Given the description of an element on the screen output the (x, y) to click on. 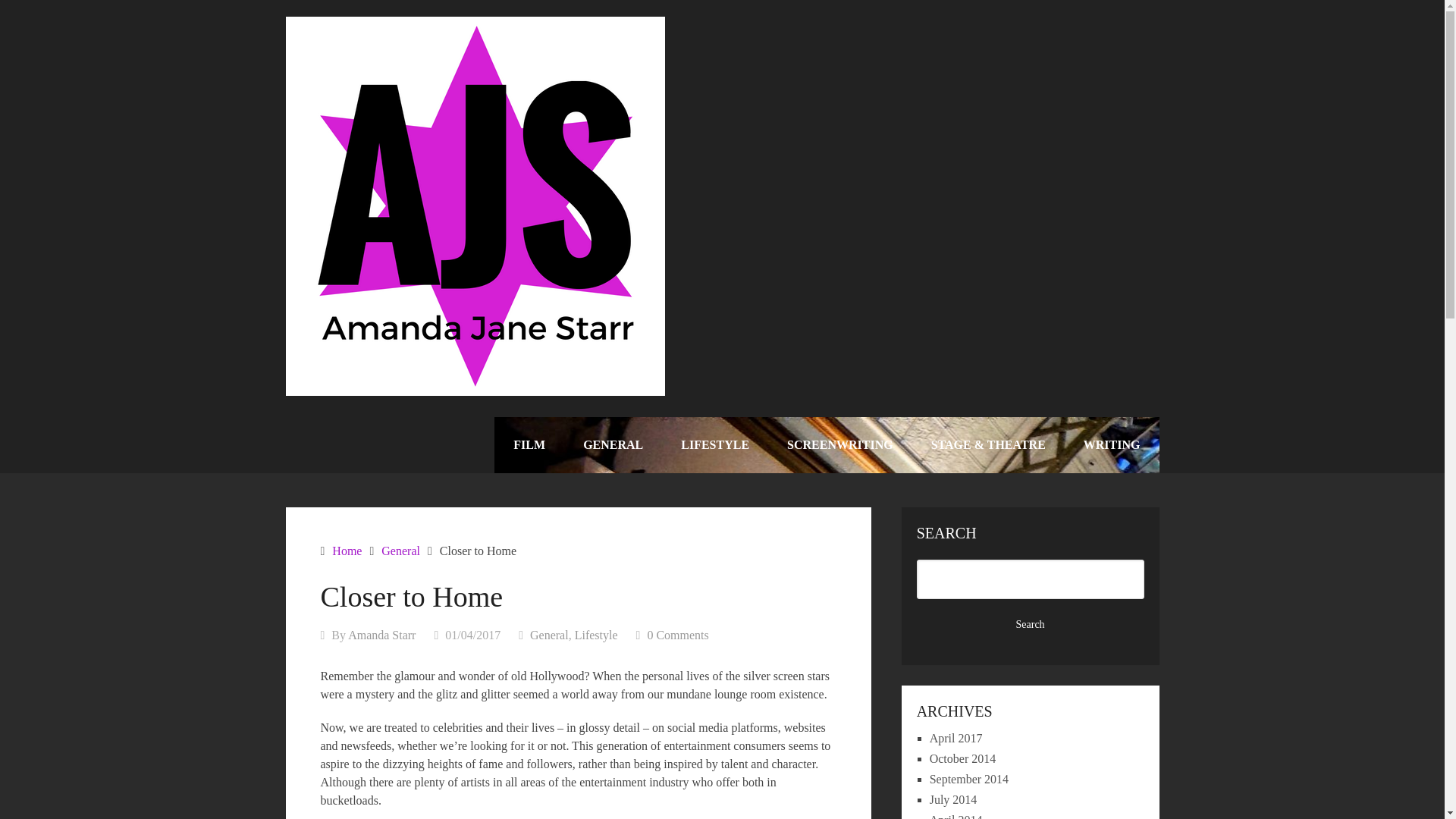
Home (346, 550)
Search (1030, 624)
Posts by Amanda Starr (380, 634)
LIFESTYLE (715, 444)
April 2014 (956, 816)
General (549, 634)
WRITING (1111, 444)
Search (1030, 624)
October 2014 (962, 758)
April 2017 (956, 738)
FILM (529, 444)
Amanda Starr (380, 634)
0 Comments (676, 634)
General (400, 550)
July 2014 (953, 799)
